Given the description of an element on the screen output the (x, y) to click on. 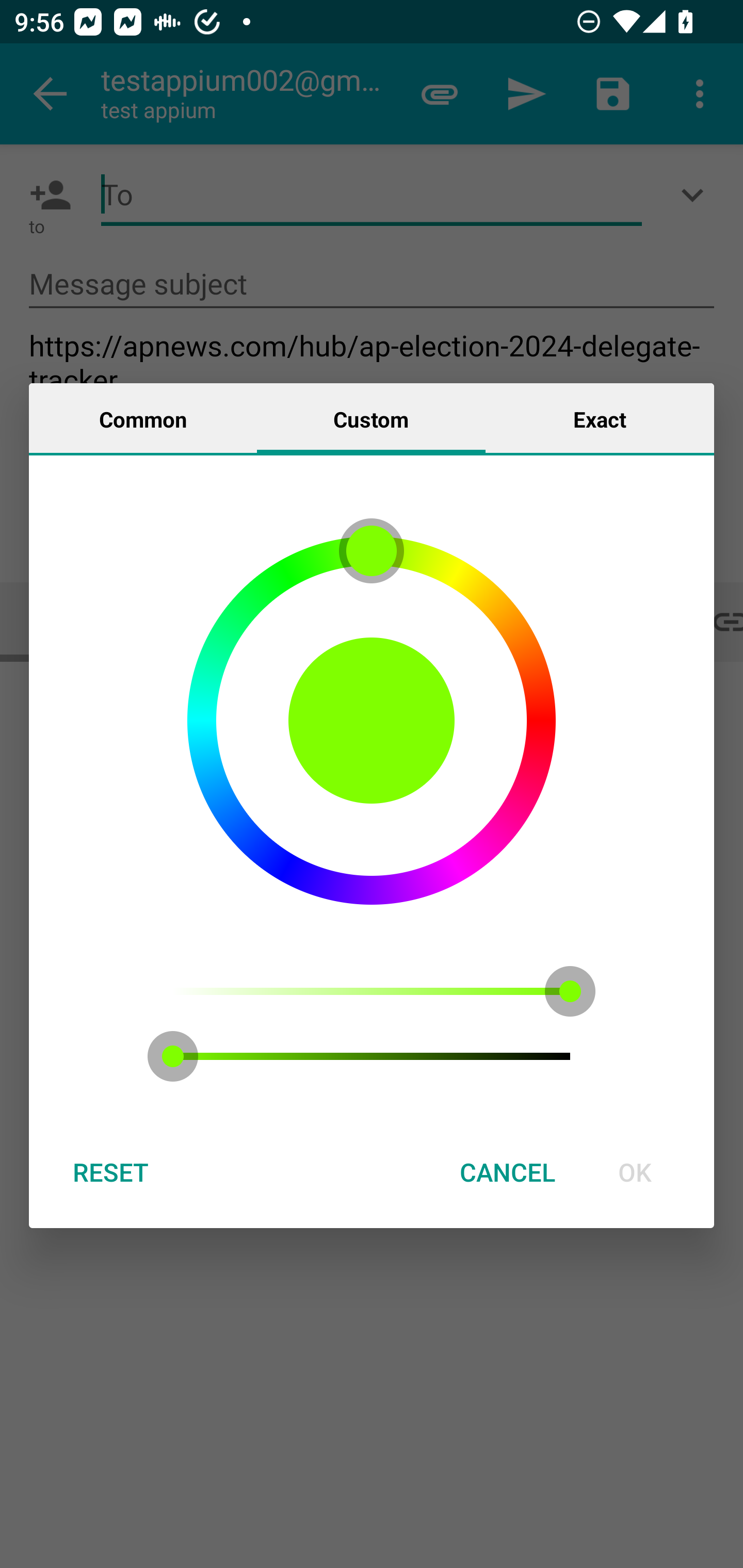
Common (142, 418)
Custom (371, 418)
Exact (599, 418)
RESET (110, 1171)
CANCEL (507, 1171)
OK (634, 1171)
